Given the description of an element on the screen output the (x, y) to click on. 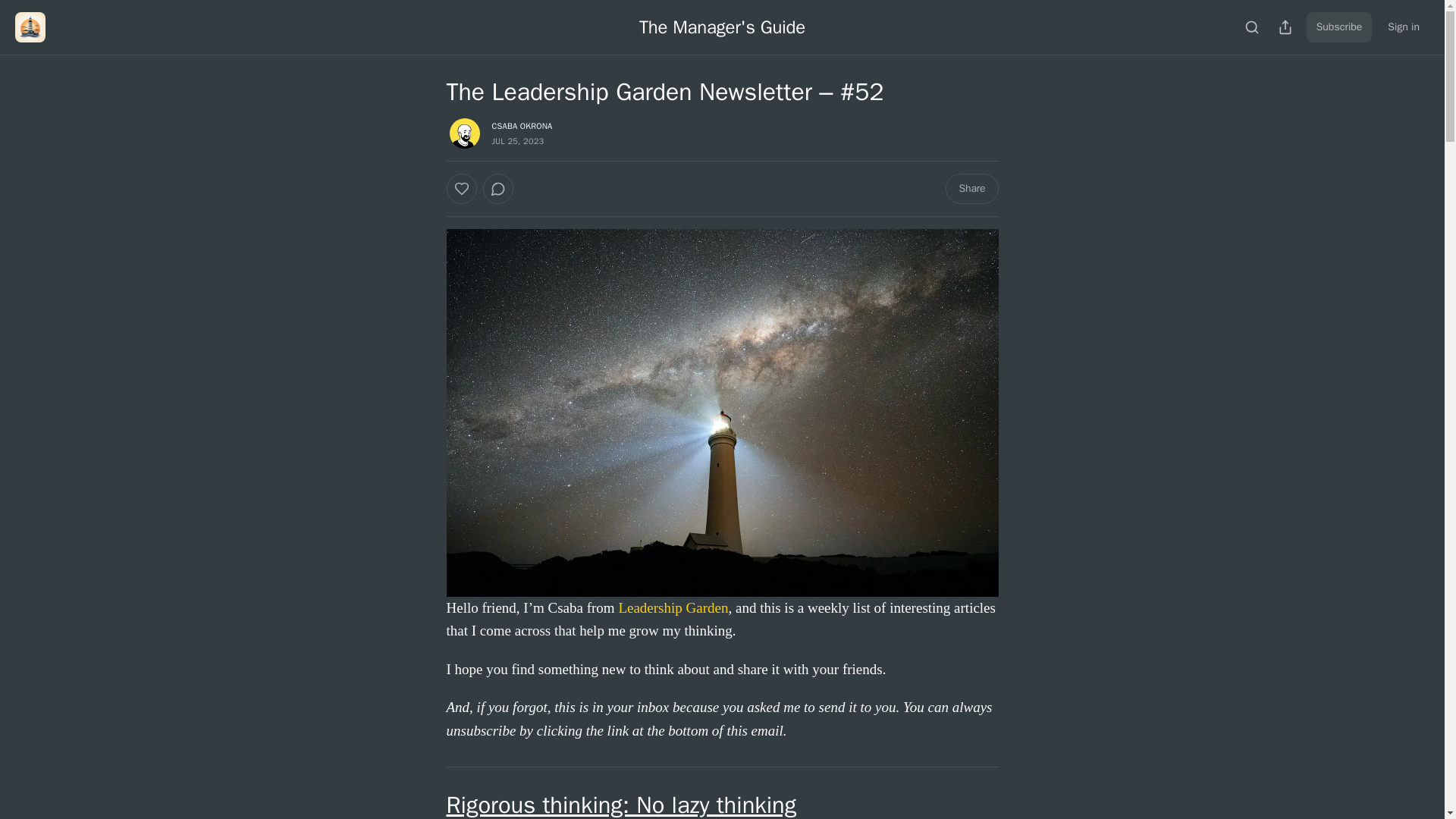
CSABA OKRONA (521, 125)
Leadership Garden (672, 607)
Share (970, 188)
Rigorous thinking: No lazy thinking (620, 804)
Sign in (1403, 27)
Subscribe (1339, 27)
The Manager's Guide (722, 26)
